Given the description of an element on the screen output the (x, y) to click on. 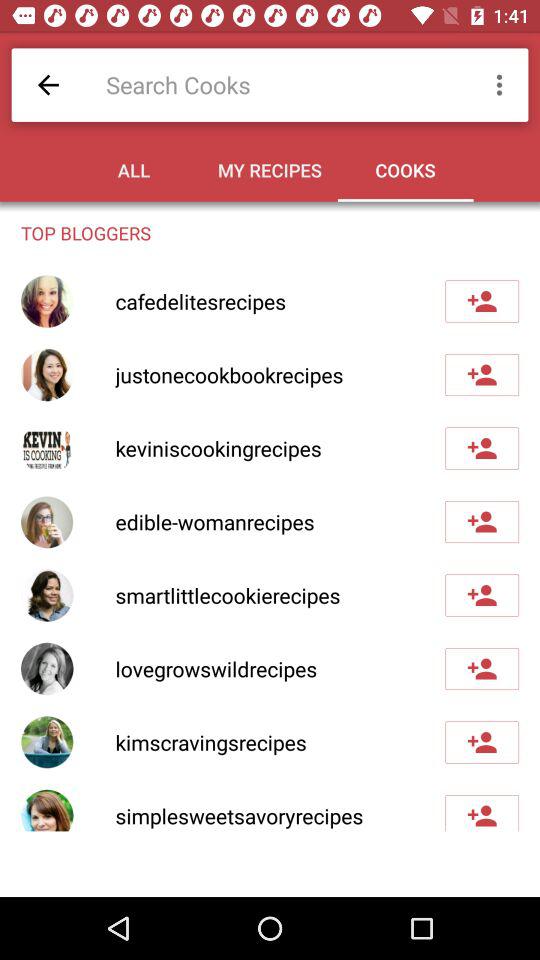
search cook (280, 84)
